Given the description of an element on the screen output the (x, y) to click on. 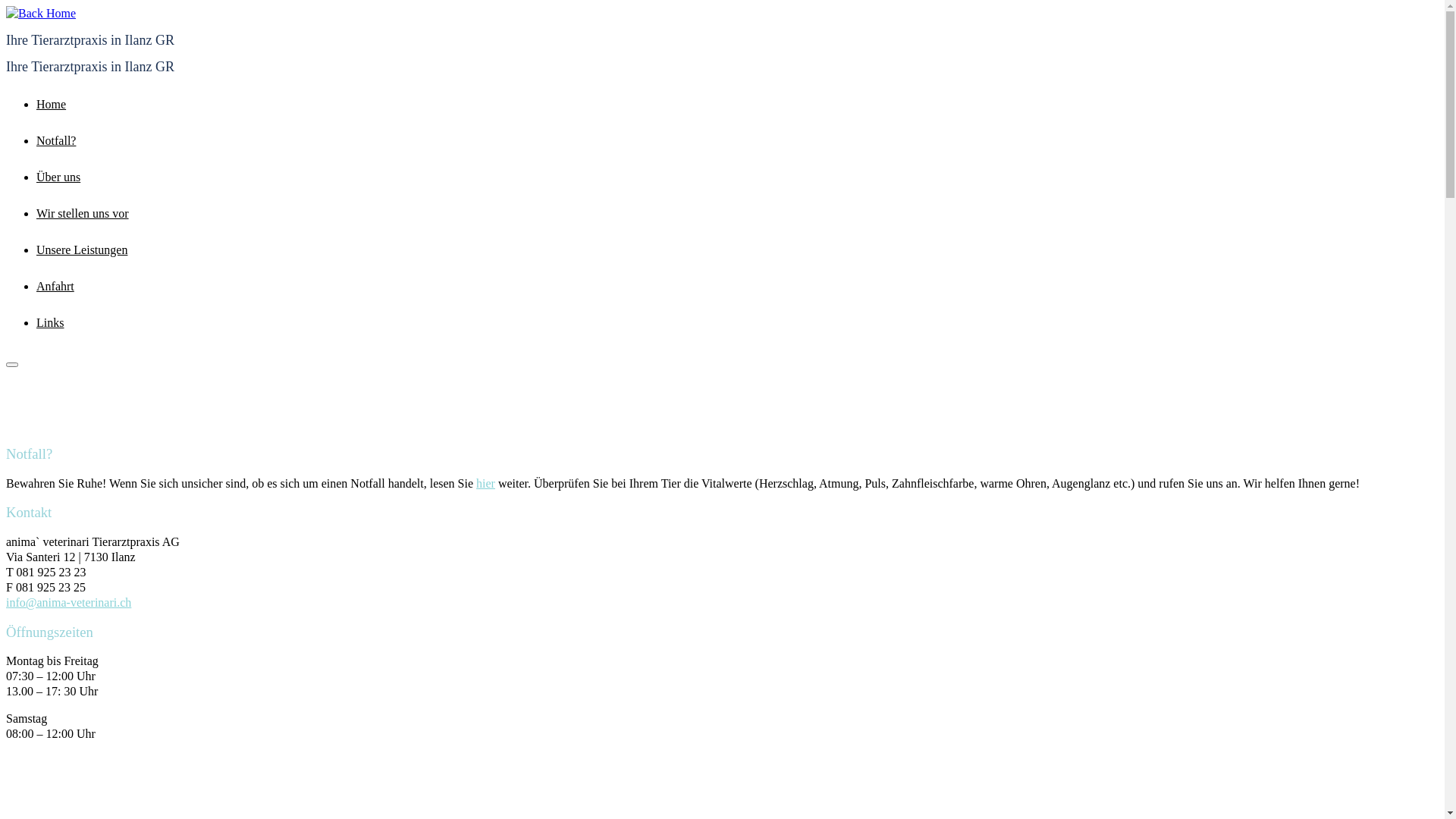
info@anima-veterinari.ch Element type: text (68, 602)
Wir stellen uns vor Element type: text (82, 213)
Open the menu Element type: hover (12, 364)
Links Element type: text (49, 322)
Unsere Leistungen Element type: text (81, 249)
Anfahrt Element type: text (55, 285)
Home Element type: text (50, 103)
Notfall? Element type: text (55, 140)
hier Element type: text (485, 482)
